Given the description of an element on the screen output the (x, y) to click on. 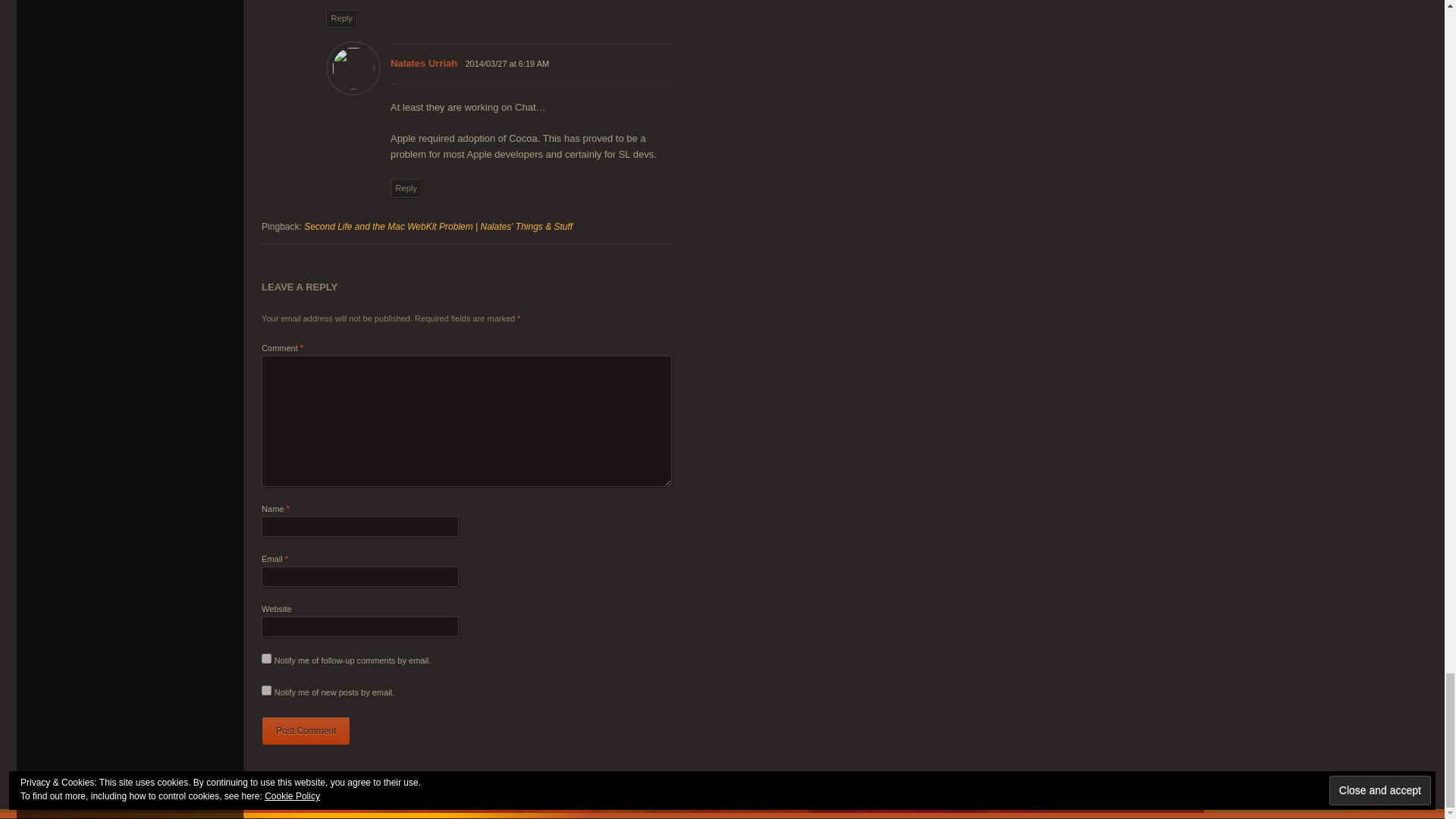
subscribe (266, 690)
Post Comment (306, 730)
subscribe (266, 658)
